Given the description of an element on the screen output the (x, y) to click on. 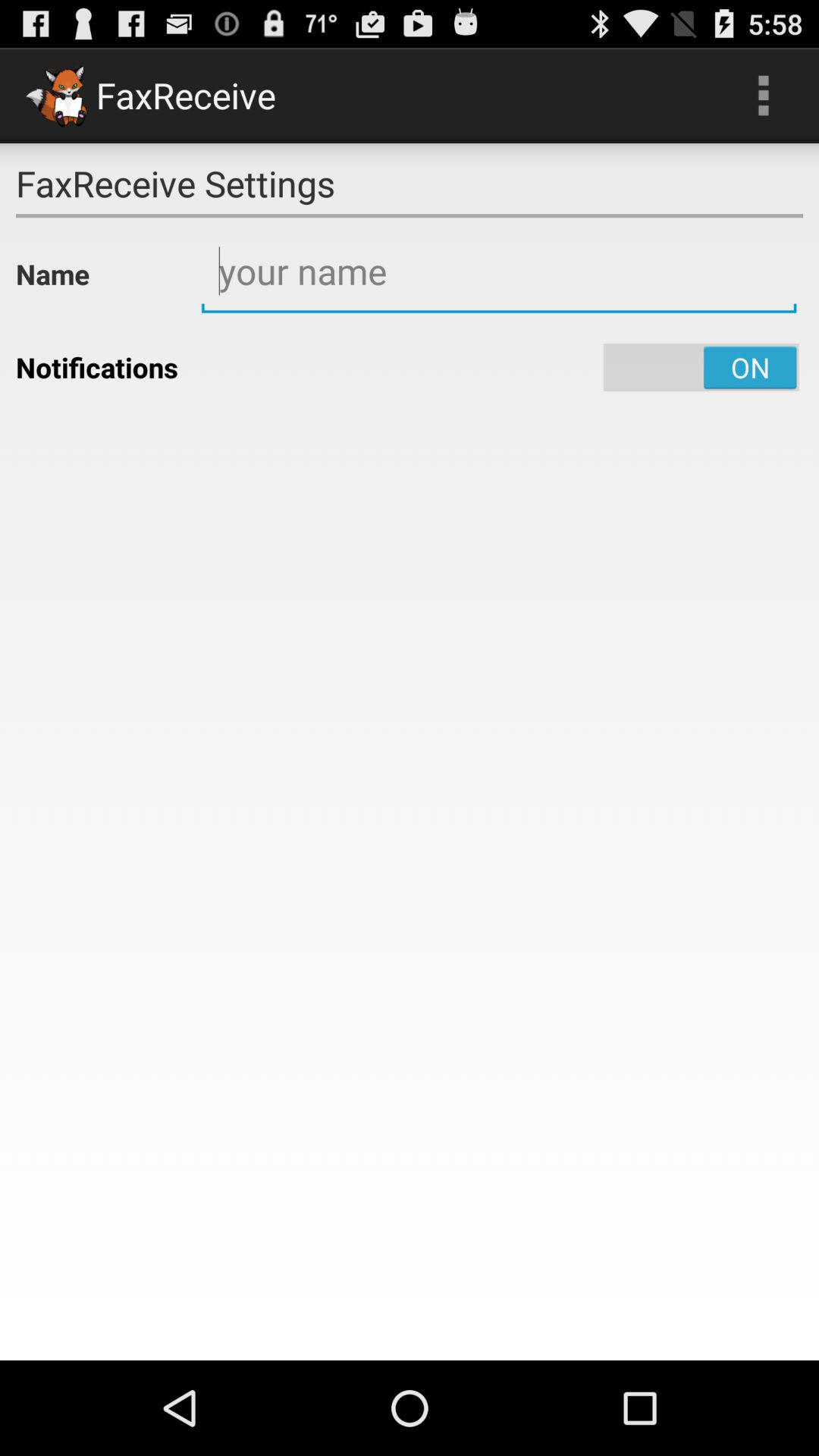
enter your name (499, 271)
